Given the description of an element on the screen output the (x, y) to click on. 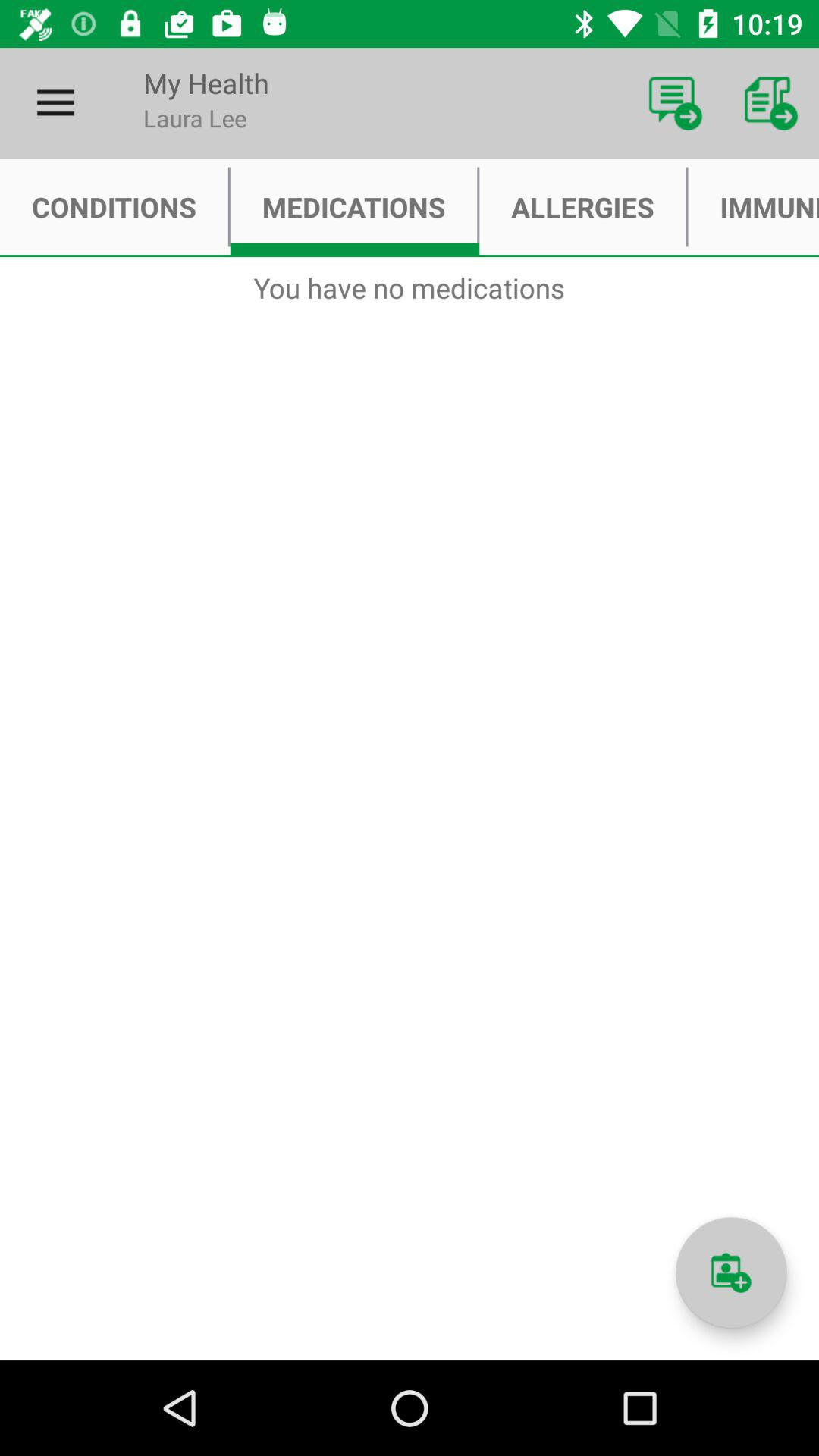
launch item to the right of the my health (675, 103)
